Given the description of an element on the screen output the (x, y) to click on. 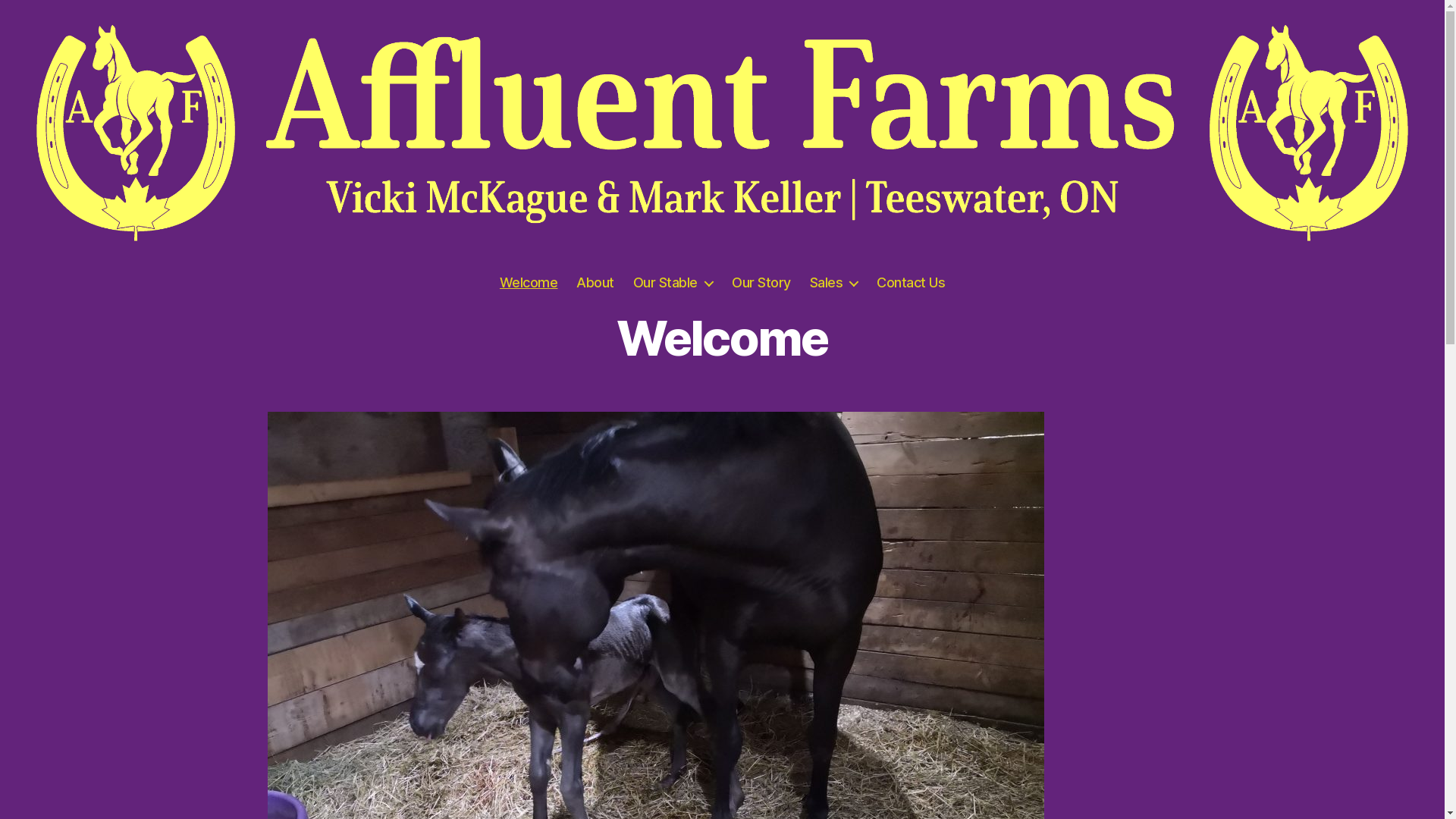
Welcome Element type: text (528, 282)
Our Story Element type: text (760, 282)
Contact Us Element type: text (910, 282)
Sales Element type: text (833, 282)
About Element type: text (595, 282)
Our Stable Element type: text (672, 282)
